Given the description of an element on the screen output the (x, y) to click on. 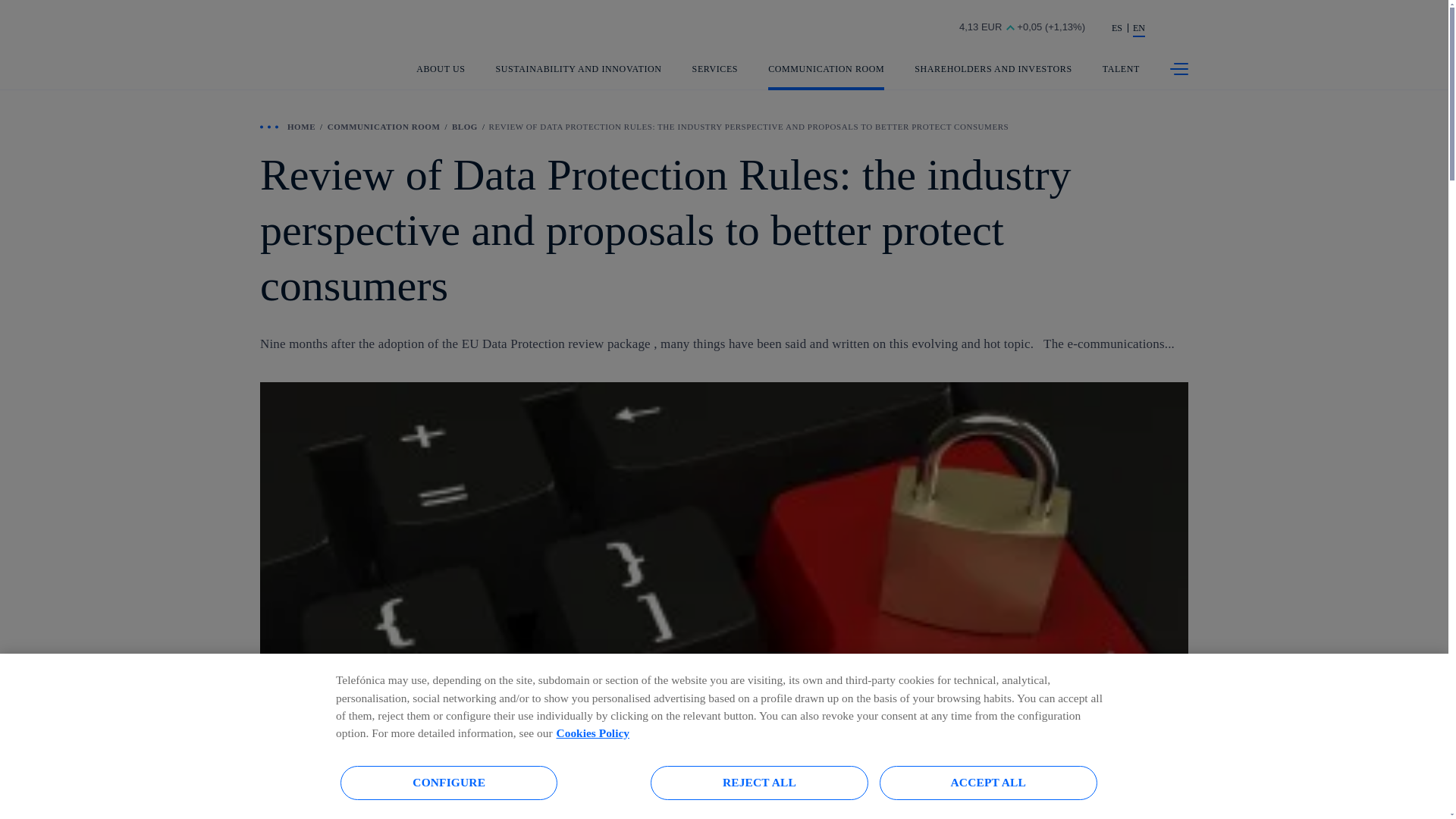
SUSTAINABILITY AND INNOVATION (579, 76)
EN (1138, 29)
Info BME (1005, 28)
ABOUT US (440, 76)
